Given the description of an element on the screen output the (x, y) to click on. 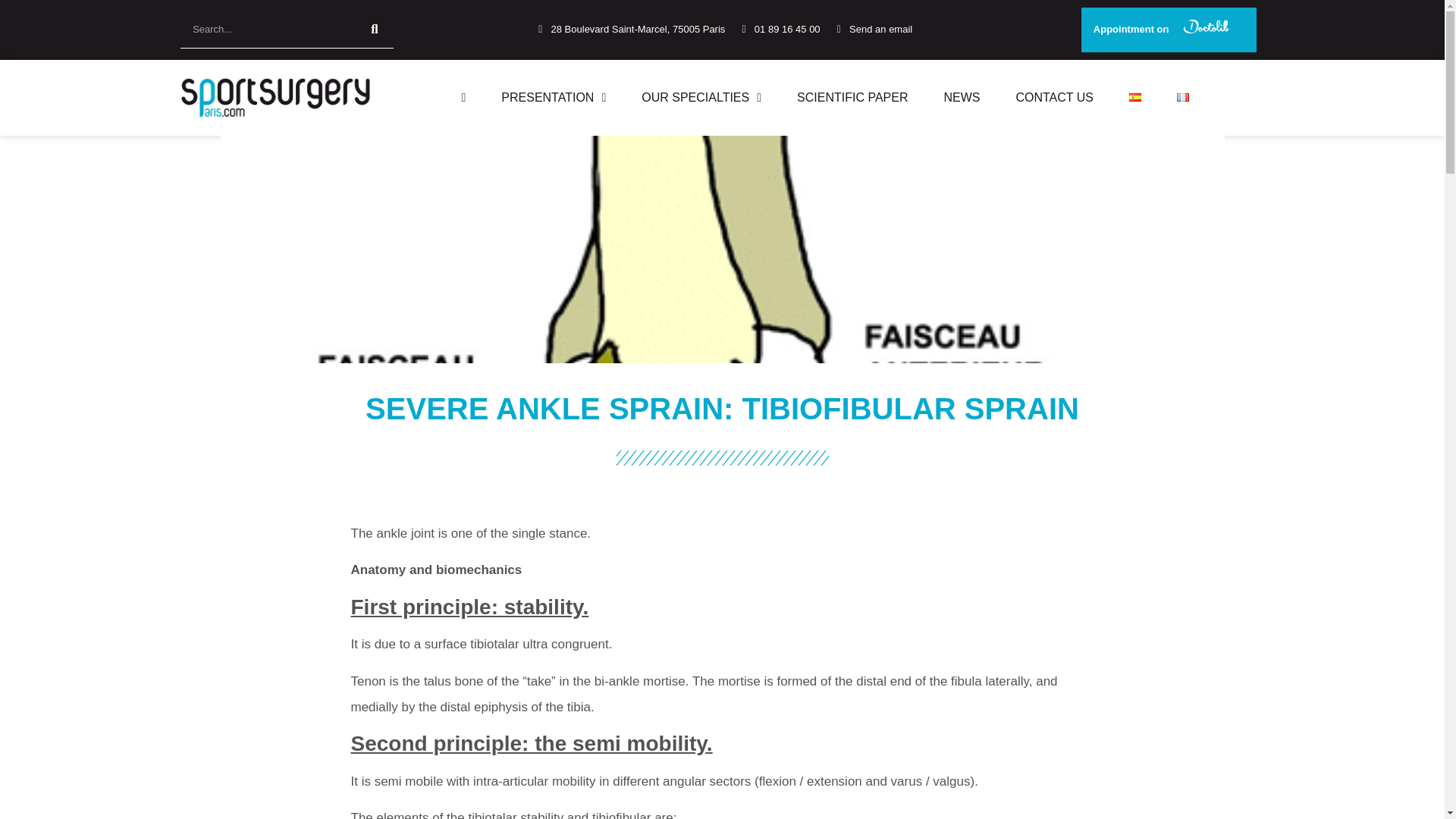
PRESENTATION (553, 97)
28 Boulevard Saint-Marcel, 75005 Paris (629, 29)
Send an email (872, 29)
OUR SPECIALTIES (700, 97)
Appointment on (1169, 29)
CONTACT US (1054, 97)
SCIENTIFIC PAPER (852, 97)
NEWS (961, 97)
01 89 16 45 00 (777, 29)
